Given the description of an element on the screen output the (x, y) to click on. 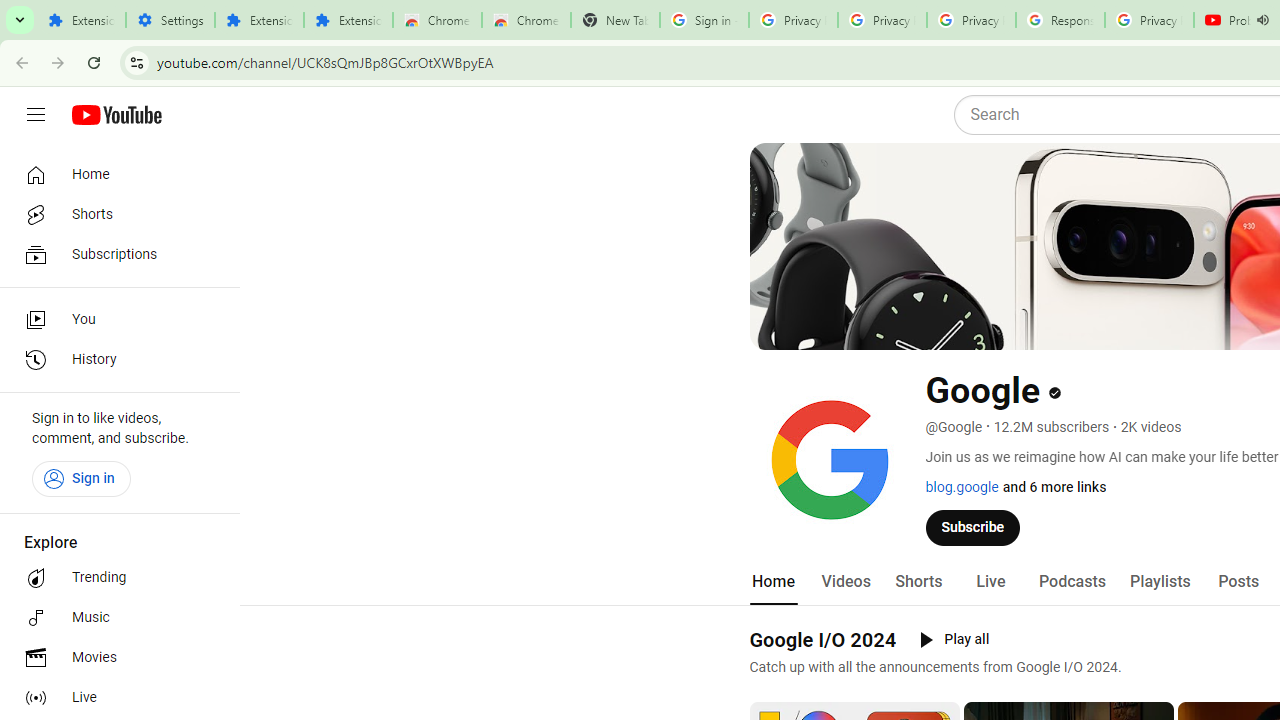
Movies (113, 657)
Subscribe (973, 527)
Home (772, 581)
Home (113, 174)
Chrome Web Store (437, 20)
Subscriptions (113, 254)
Forward (57, 62)
Mute tab (1262, 20)
View site information (136, 62)
Chrome Web Store - Themes (526, 20)
Trending (113, 578)
You (113, 319)
Podcasts (1072, 581)
